Given the description of an element on the screen output the (x, y) to click on. 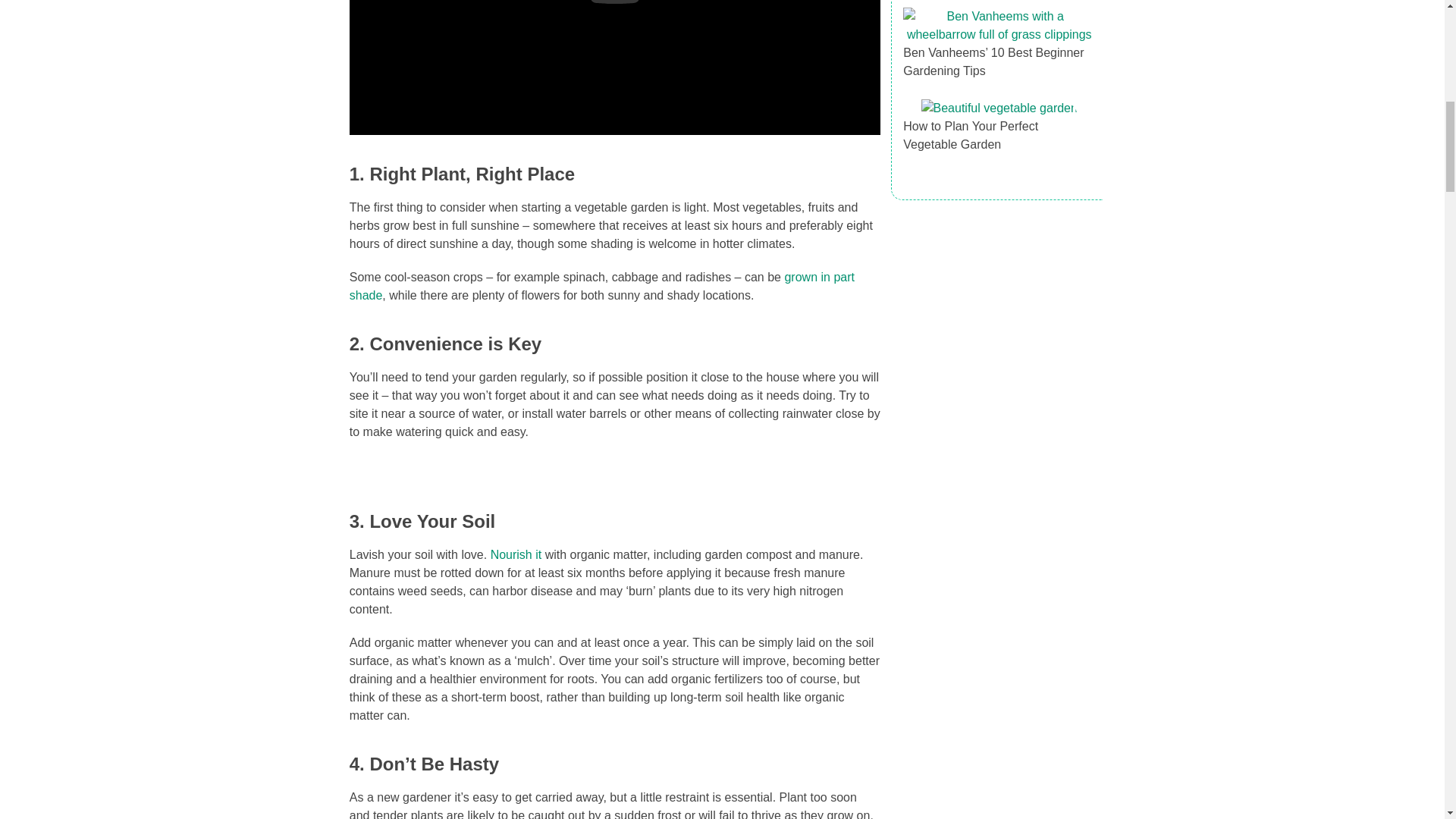
grown in part shade (601, 286)
Play (614, 2)
Nourish it (515, 554)
